Given the description of an element on the screen output the (x, y) to click on. 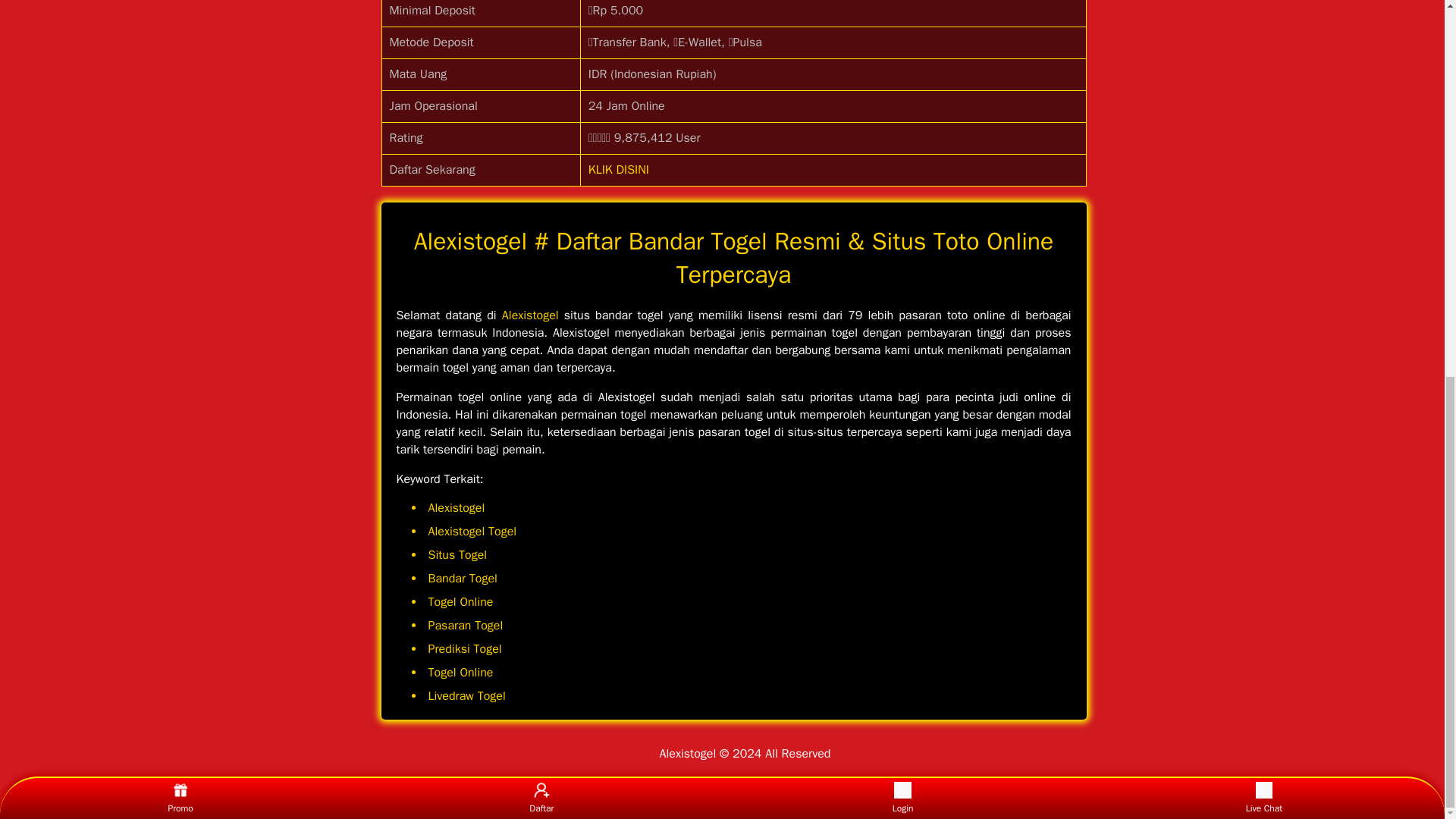
KLIK DISINI (618, 169)
Alexistogel (530, 314)
Live Chat (1263, 103)
Daftar (541, 103)
Login (903, 103)
Promo (180, 103)
